Given the description of an element on the screen output the (x, y) to click on. 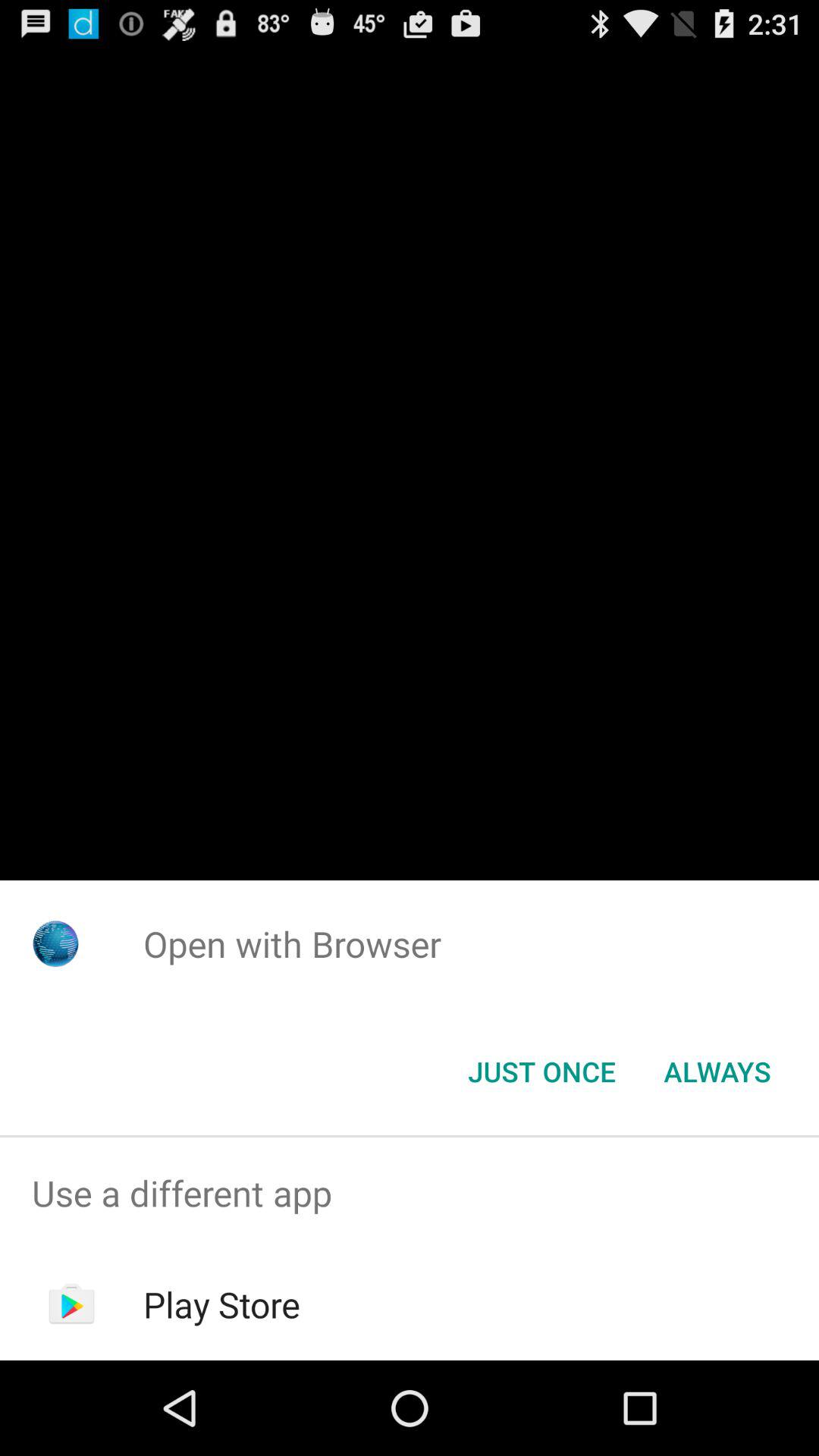
open app below open with browser item (717, 1071)
